Given the description of an element on the screen output the (x, y) to click on. 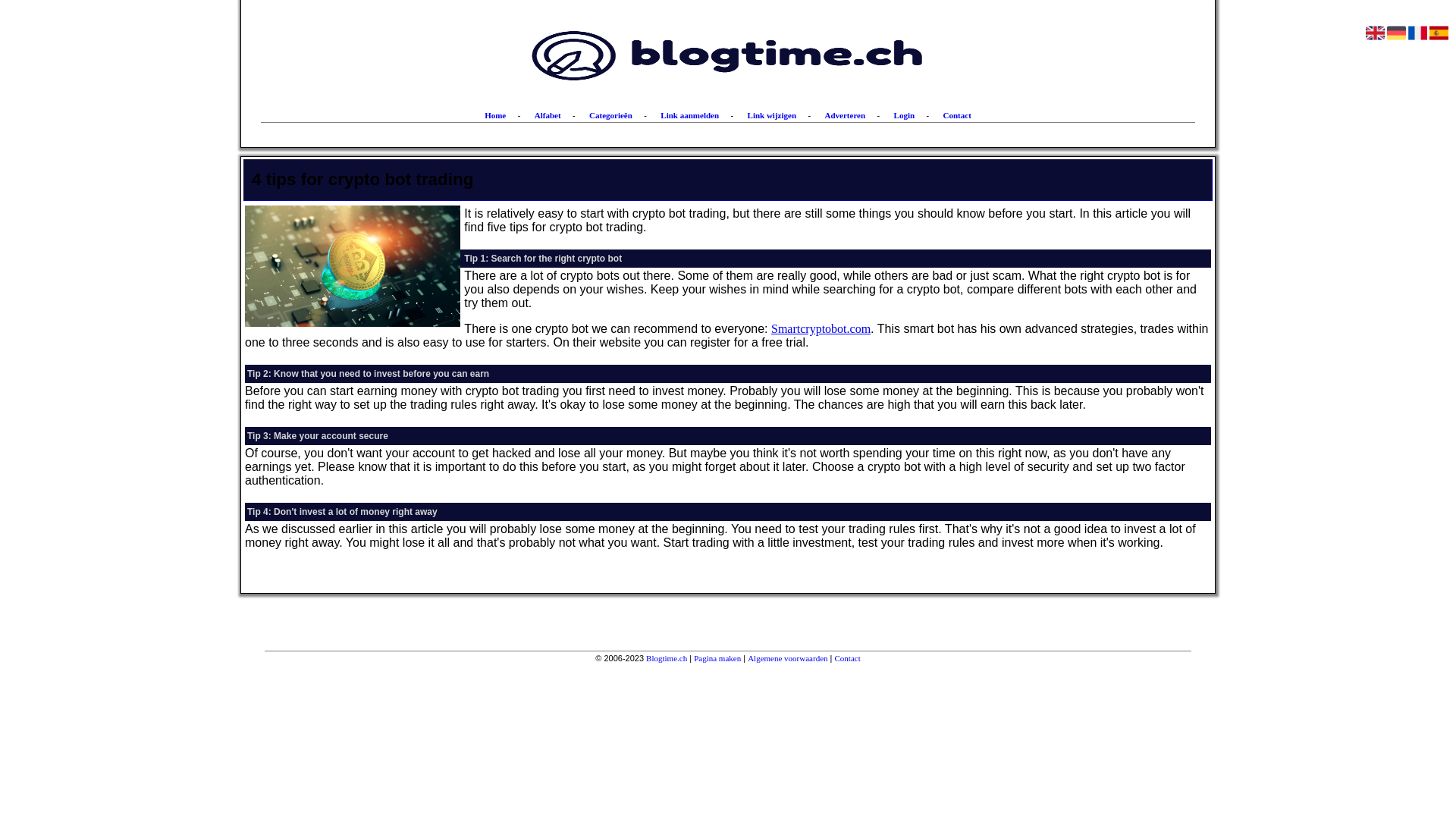
Link wijzigen Element type: text (771, 114)
Alfabet Element type: text (547, 114)
Algemene voorwaarden Element type: text (787, 657)
Adverteren Element type: text (845, 114)
Pagina maken Element type: text (716, 657)
Smartcryptobot.com Element type: text (820, 328)
Contact Element type: text (957, 114)
Login Element type: text (904, 114)
Contact Element type: text (847, 657)
Blogtime.ch Element type: text (666, 657)
Link aanmelden Element type: text (689, 114)
Home Element type: text (494, 114)
